Given the description of an element on the screen output the (x, y) to click on. 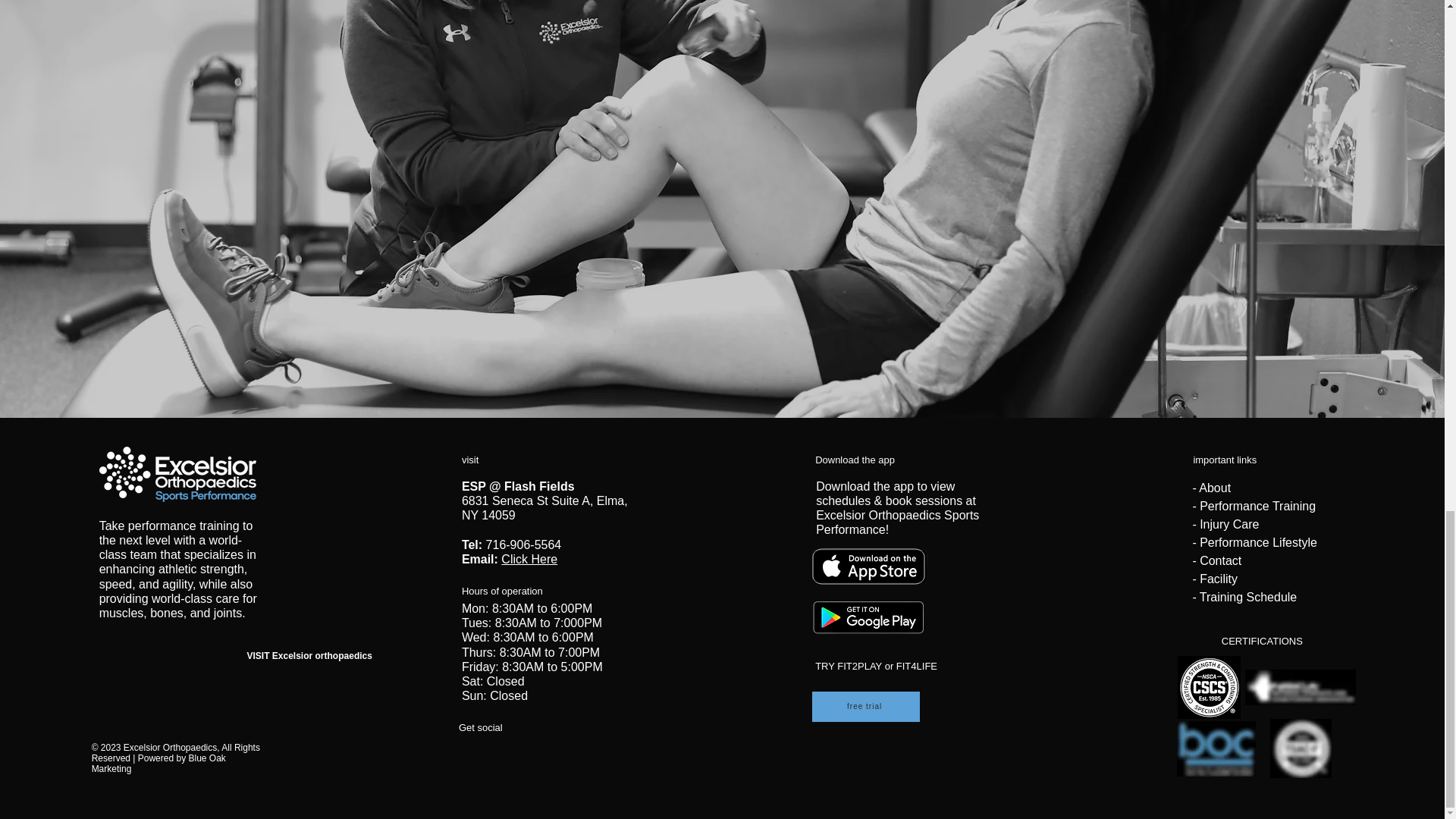
Training Schedule (1248, 596)
Blue Oak Marketing (158, 762)
VISIT Excelsior orthopaedics (309, 655)
- About (1211, 487)
- Performance Training (1254, 505)
- Injury Care (1225, 523)
716-906-5564 (524, 544)
Facility (1218, 578)
- Performance Lifestyle (1254, 542)
- Contact (1216, 560)
